Given the description of an element on the screen output the (x, y) to click on. 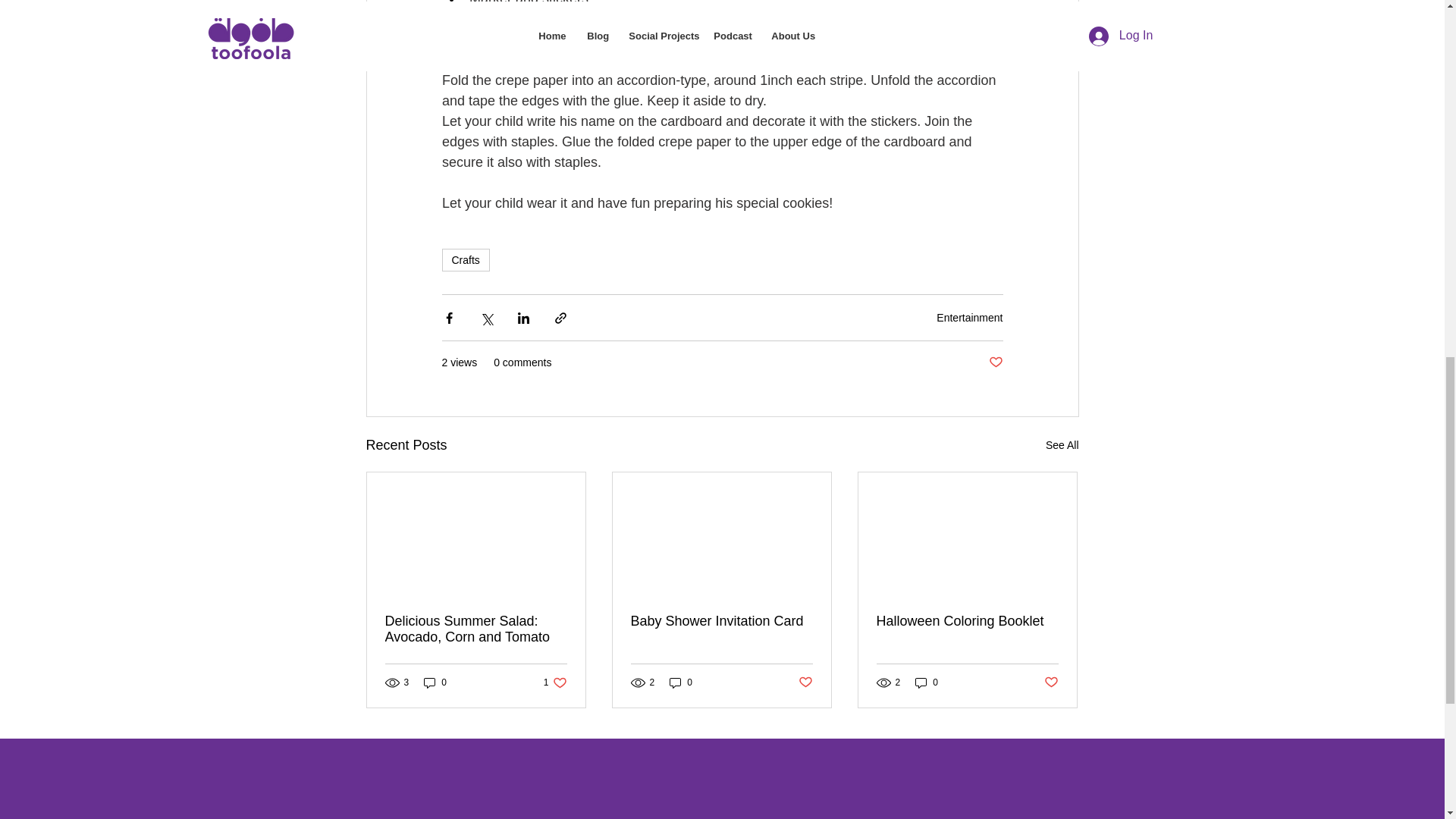
0 (926, 682)
Post not marked as liked (804, 682)
Halloween Coloring Booklet (967, 621)
Post not marked as liked (1050, 682)
Post not marked as liked (995, 362)
0 (555, 682)
Baby Shower Invitation Card (681, 682)
Crafts (721, 621)
See All (465, 259)
Delicious Summer Salad: Avocado, Corn and Tomato (1061, 445)
Entertainment (476, 629)
0 (969, 317)
